Given the description of an element on the screen output the (x, y) to click on. 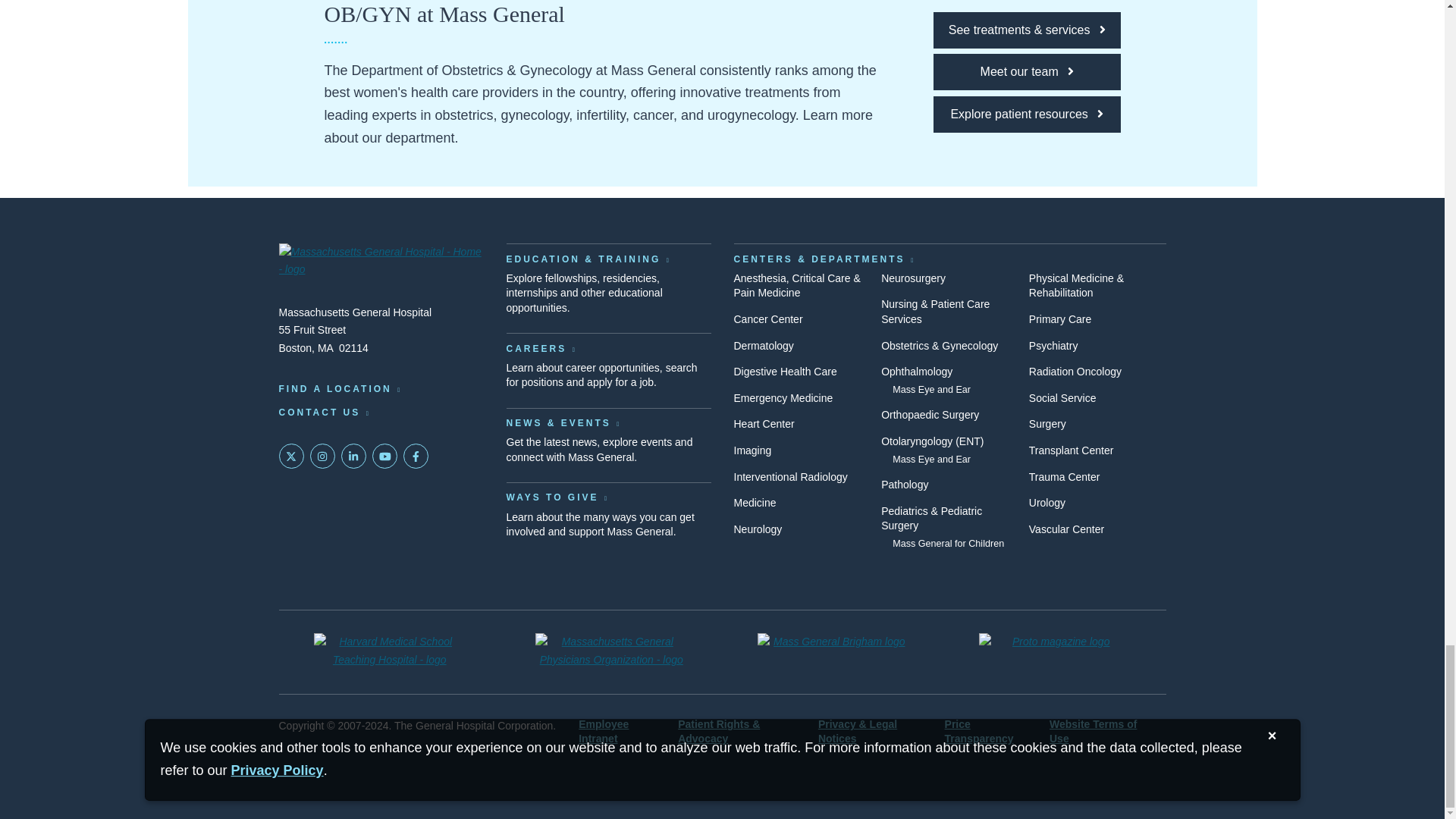
Massachusetts General Hospital - Home (381, 262)
